Given the description of an element on the screen output the (x, y) to click on. 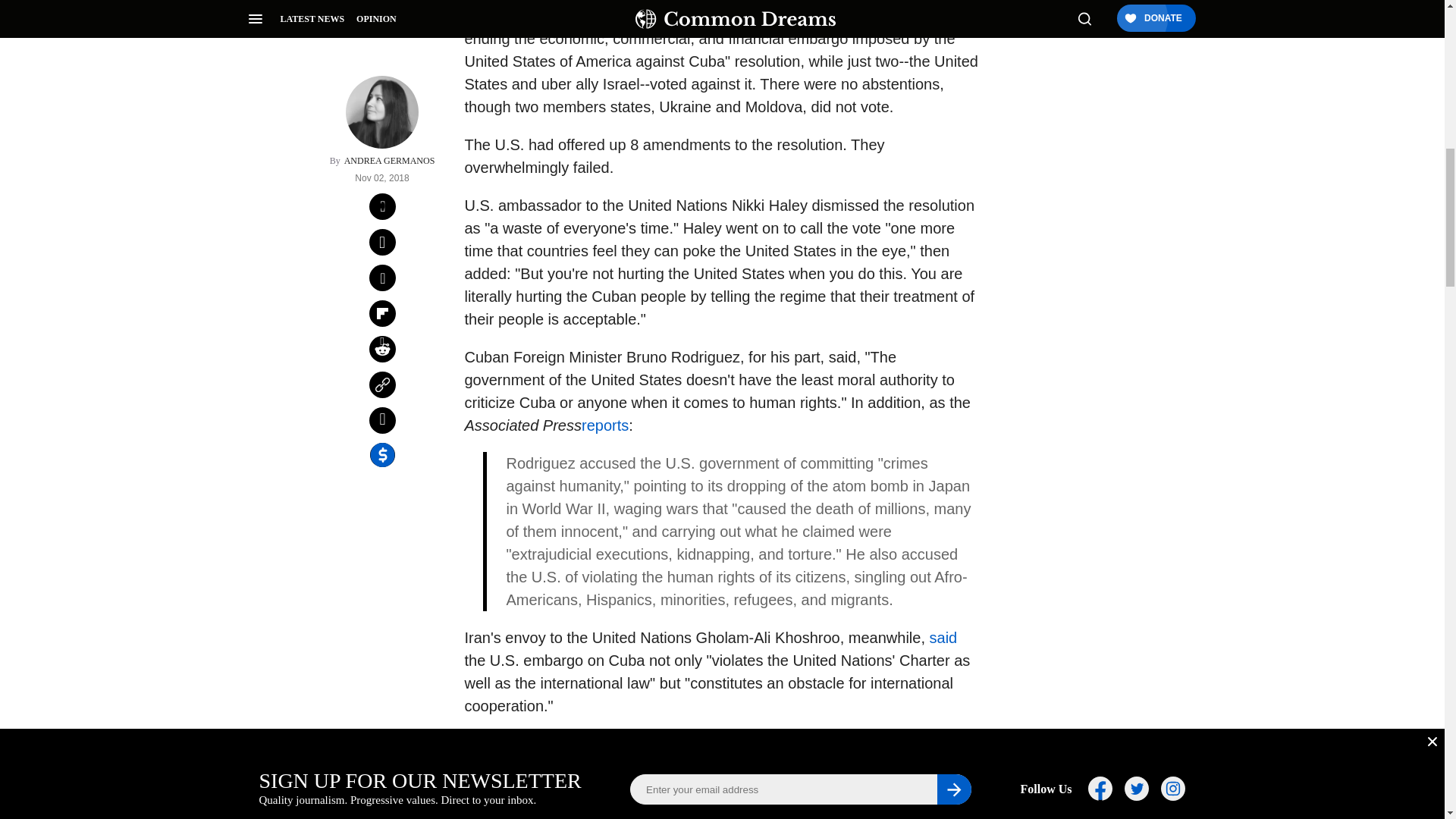
Donate Button (1051, 207)
Copy this link to clipboard (382, 214)
